Given the description of an element on the screen output the (x, y) to click on. 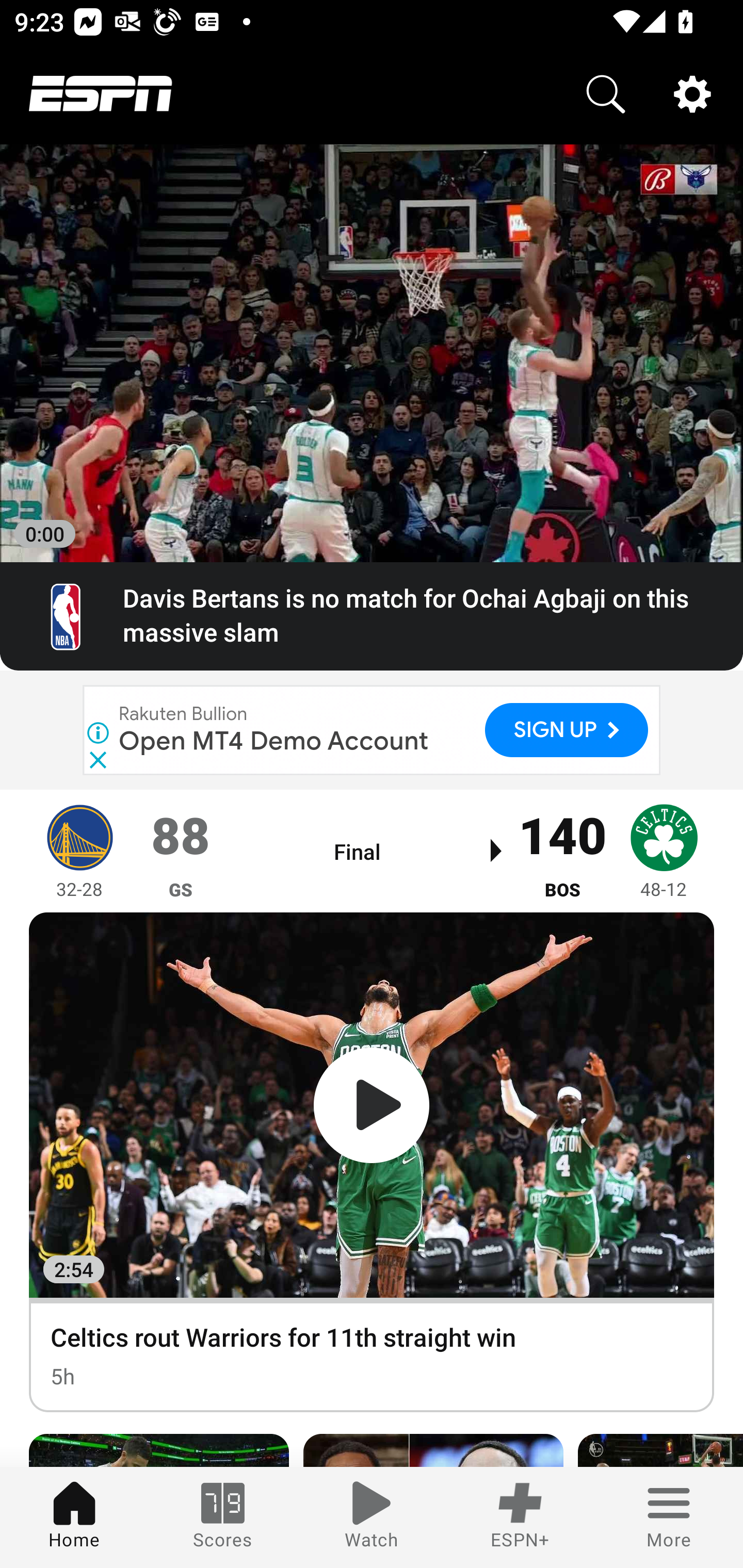
Search (605, 93)
Settings (692, 93)
Rakuten Bullion (183, 713)
SIGN UP (566, 729)
Open MT4 Demo Account (274, 740)
Scores (222, 1517)
Watch (371, 1517)
ESPN+ (519, 1517)
More (668, 1517)
